Given the description of an element on the screen output the (x, y) to click on. 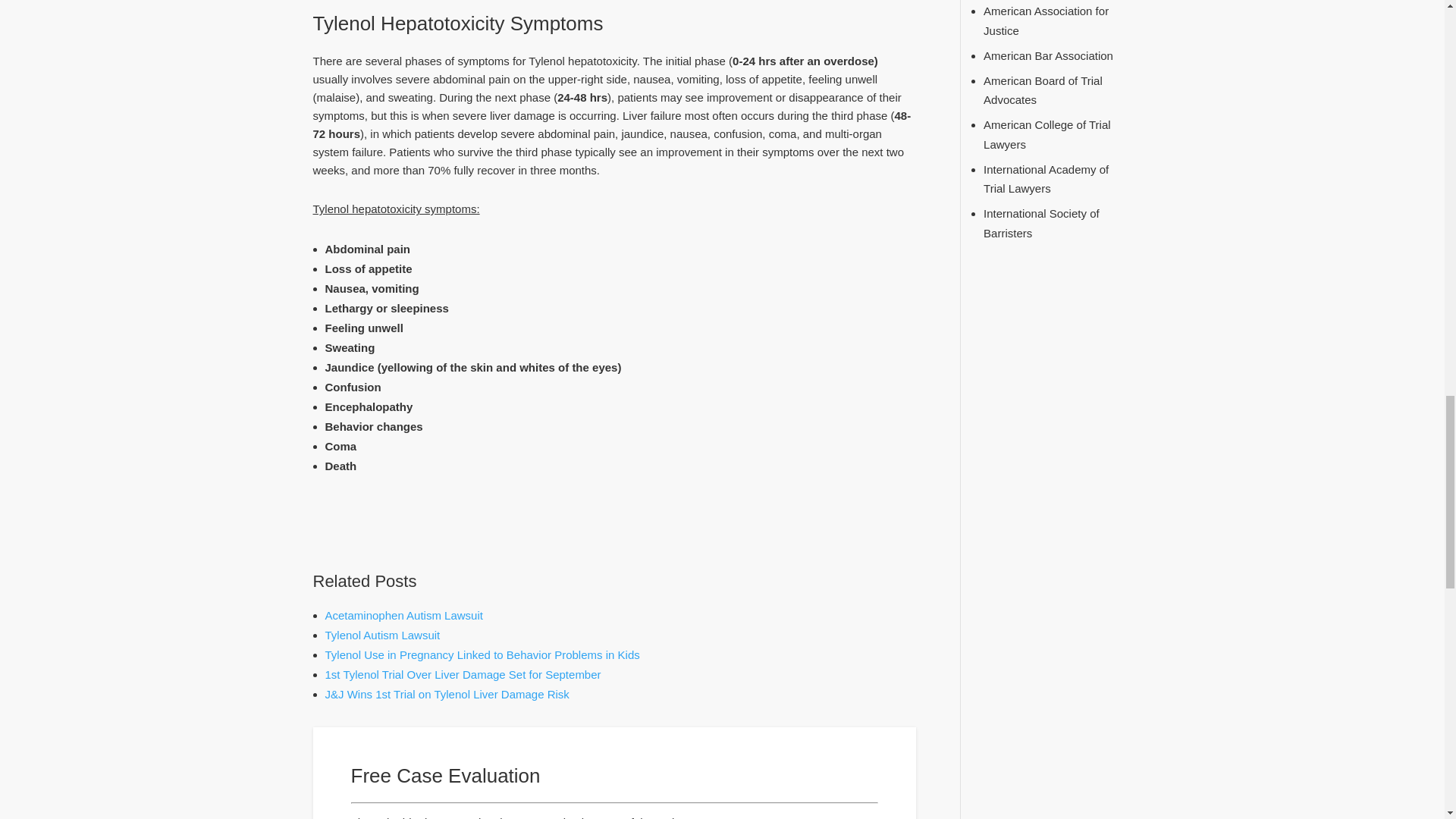
Tylenol Use in Pregnancy Linked to Behavior Problems in Kids (481, 654)
1st Tylenol Trial Over Liver Damage Set for September (461, 674)
Acetaminophen Autism Lawsuit (402, 615)
Tylenol Autism Lawsuit (381, 634)
